Given the description of an element on the screen output the (x, y) to click on. 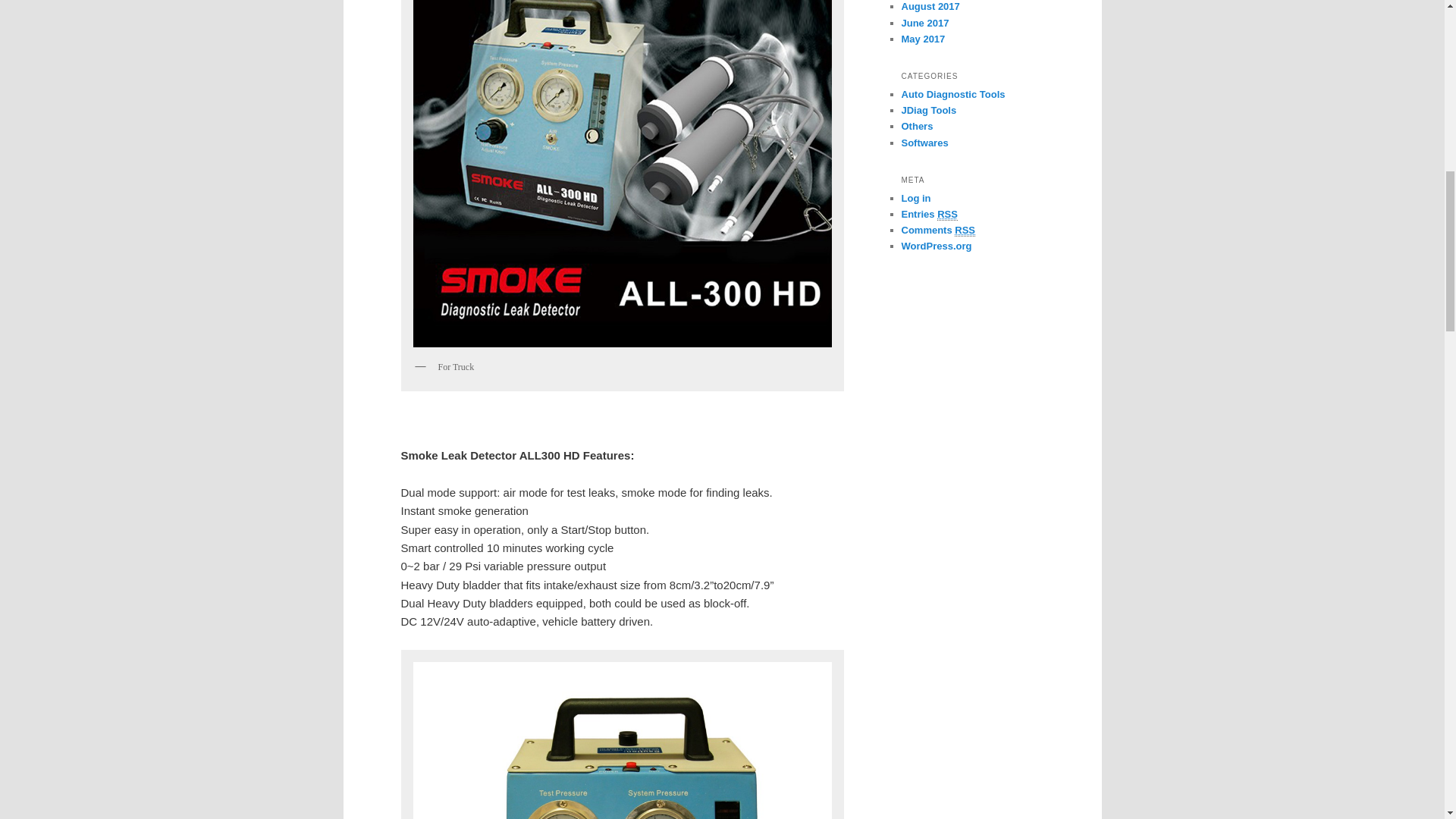
Really Simple Syndication (965, 230)
Really Simple Syndication (947, 214)
August 2017 (930, 6)
June 2017 (925, 22)
